Given the description of an element on the screen output the (x, y) to click on. 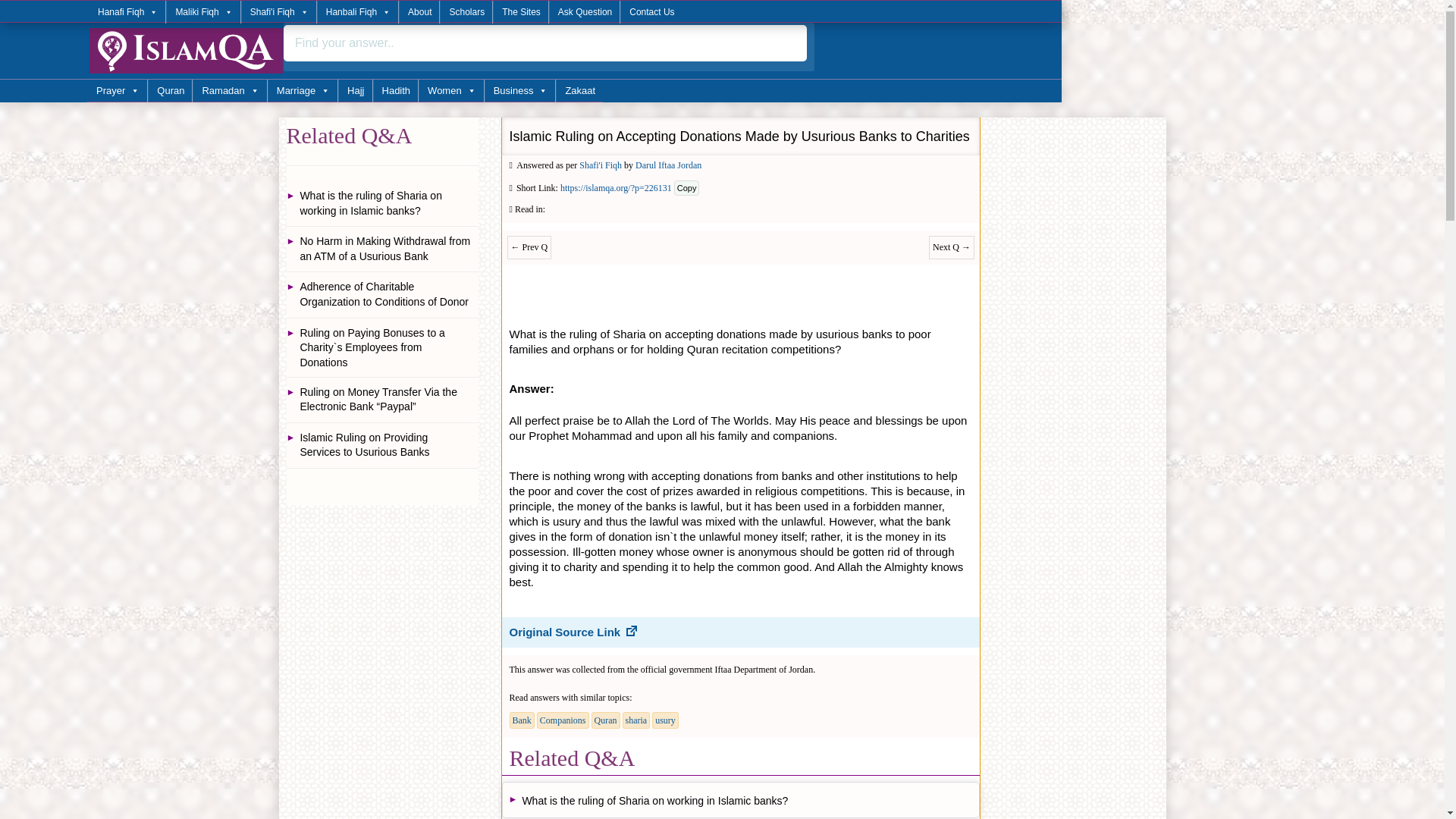
Hanafi Fiqh (126, 11)
Maliki Fiqh (202, 11)
